Given the description of an element on the screen output the (x, y) to click on. 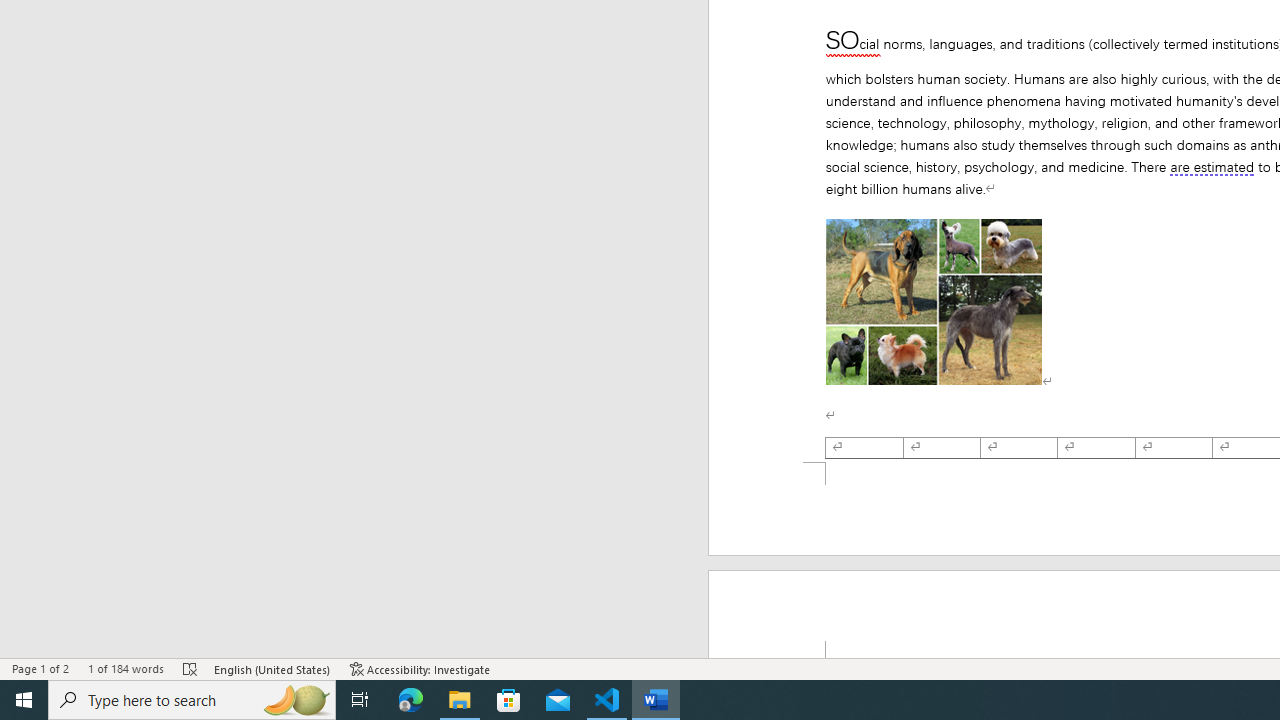
Accessibility Checker Accessibility: Investigate (420, 668)
Spelling and Grammar Check Errors (191, 668)
Language English (United States) (273, 668)
Page Number Page 1 of 2 (39, 668)
Morphological variation in six dogs (933, 301)
